Given the description of an element on the screen output the (x, y) to click on. 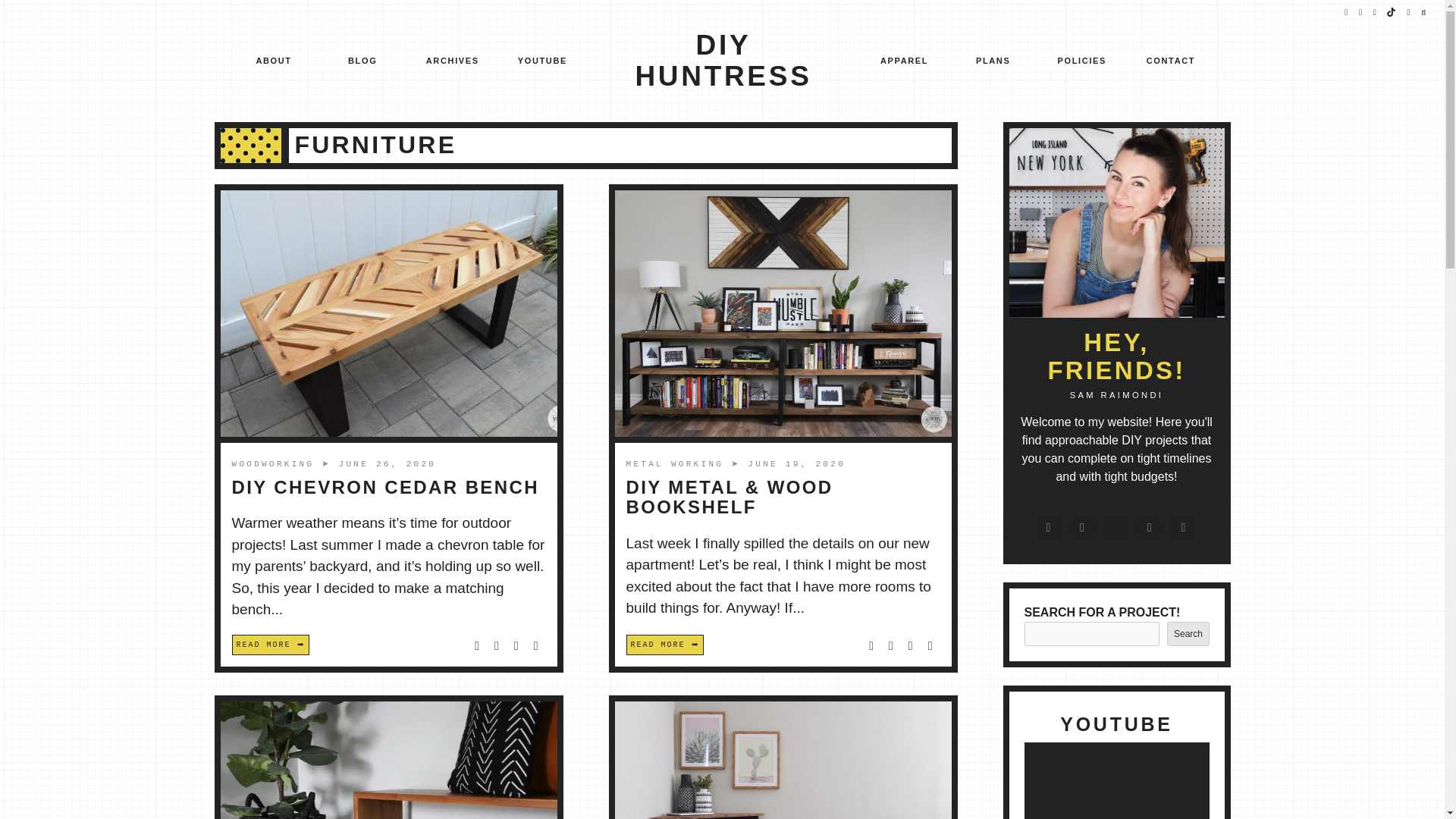
YOUTUBE (542, 62)
ARCHIVES (452, 62)
PLANS (992, 62)
DIY HUNTRESS (723, 60)
APPAREL (904, 62)
READ MORE (269, 644)
tiktok icon (1391, 12)
DIY CHEVRON CEDAR BENCH (384, 486)
BLOG (362, 62)
POLICIES (1082, 62)
